Given the description of an element on the screen output the (x, y) to click on. 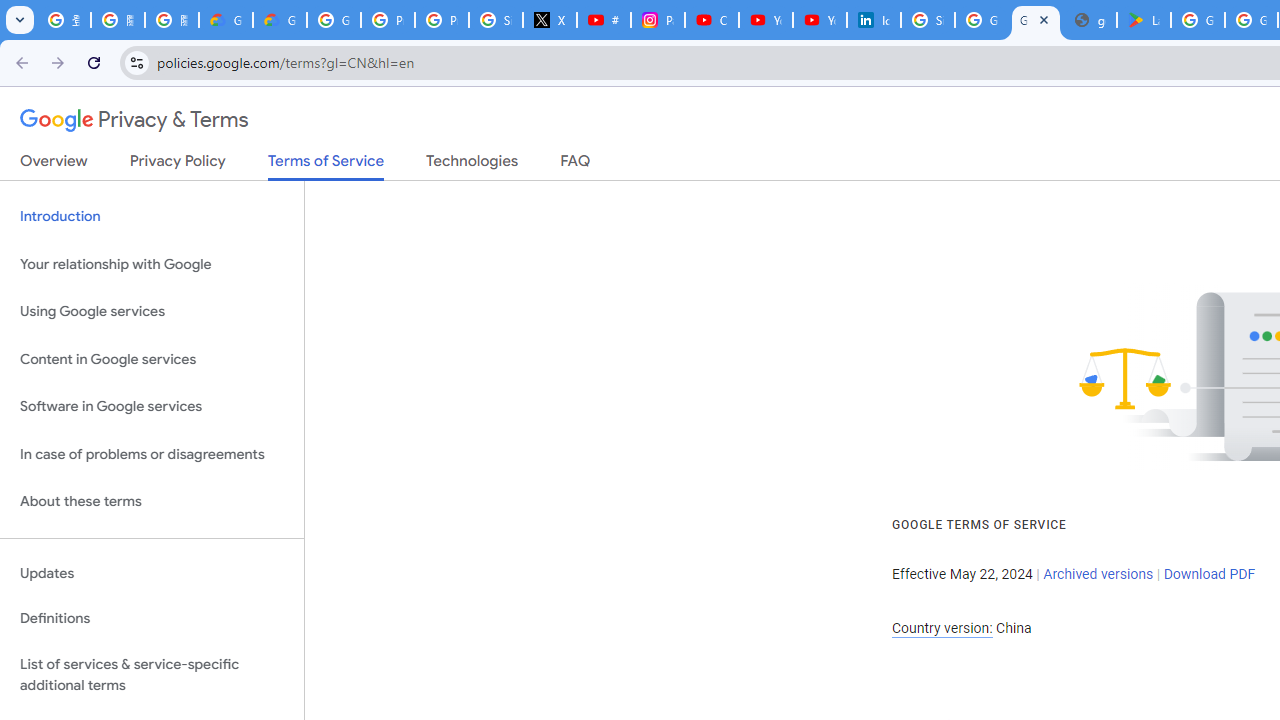
Privacy Help Center - Policies Help (387, 20)
Software in Google services (152, 407)
google_privacy_policy_en.pdf (1089, 20)
List of services & service-specific additional terms (152, 674)
Identity verification via Persona | LinkedIn Help (874, 20)
Last Shelter: Survival - Apps on Google Play (1144, 20)
Privacy Help Center - Policies Help (441, 20)
Archived versions (1098, 574)
YouTube Culture & Trends - YouTube Top 10, 2021 (819, 20)
Privacy Policy (177, 165)
X (550, 20)
In case of problems or disagreements (152, 453)
